Given the description of an element on the screen output the (x, y) to click on. 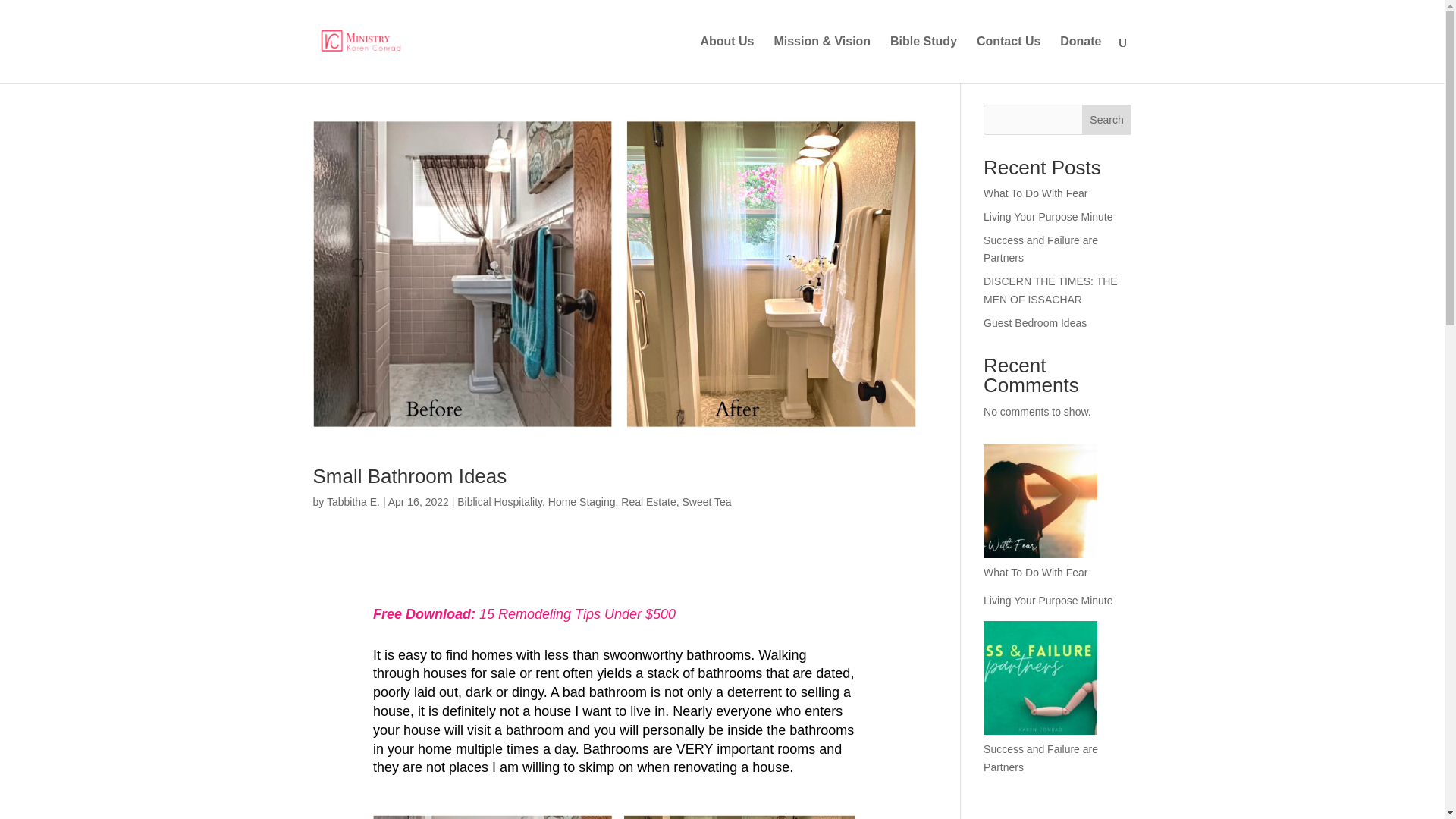
Living Your Purpose Minute (1048, 216)
Success and Failure are Partners (1040, 757)
Success and Failure are Partners (1040, 249)
Contact Us (1008, 59)
Biblical Hospitality (499, 501)
Sweet Tea (705, 501)
Tabbitha E. (353, 501)
What To Do With Fear (1035, 193)
Living Your Purpose Minute (1048, 600)
Search (1106, 119)
